Given the description of an element on the screen output the (x, y) to click on. 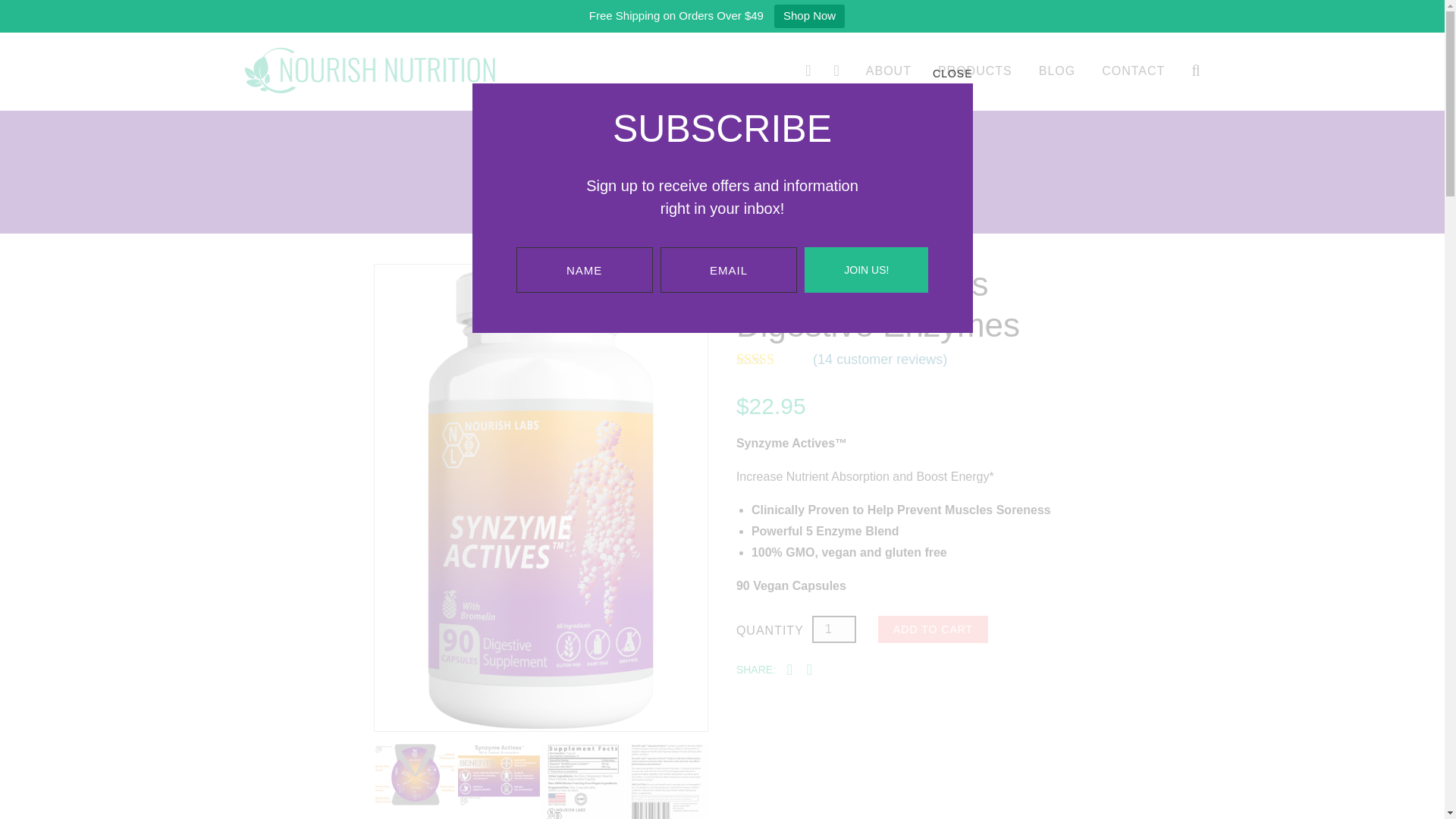
ABOUT (888, 70)
JOIN US! (866, 269)
CONTACT (1133, 70)
1 (834, 628)
Qty (834, 628)
JOIN US! (866, 180)
PRODUCTS (974, 70)
BLOG (1057, 70)
ADD TO CART (932, 628)
Shop Now (809, 15)
